Given the description of an element on the screen output the (x, y) to click on. 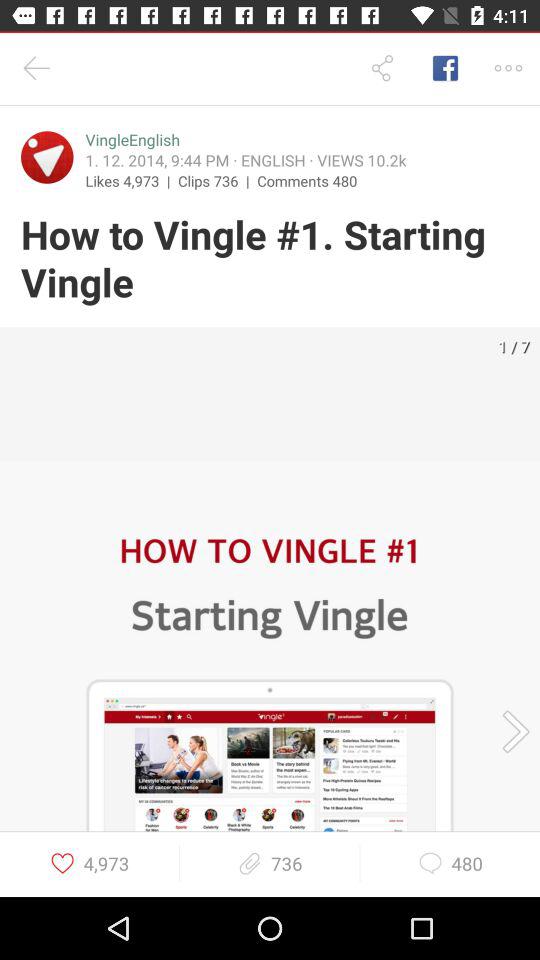
visit website (47, 157)
